Given the description of an element on the screen output the (x, y) to click on. 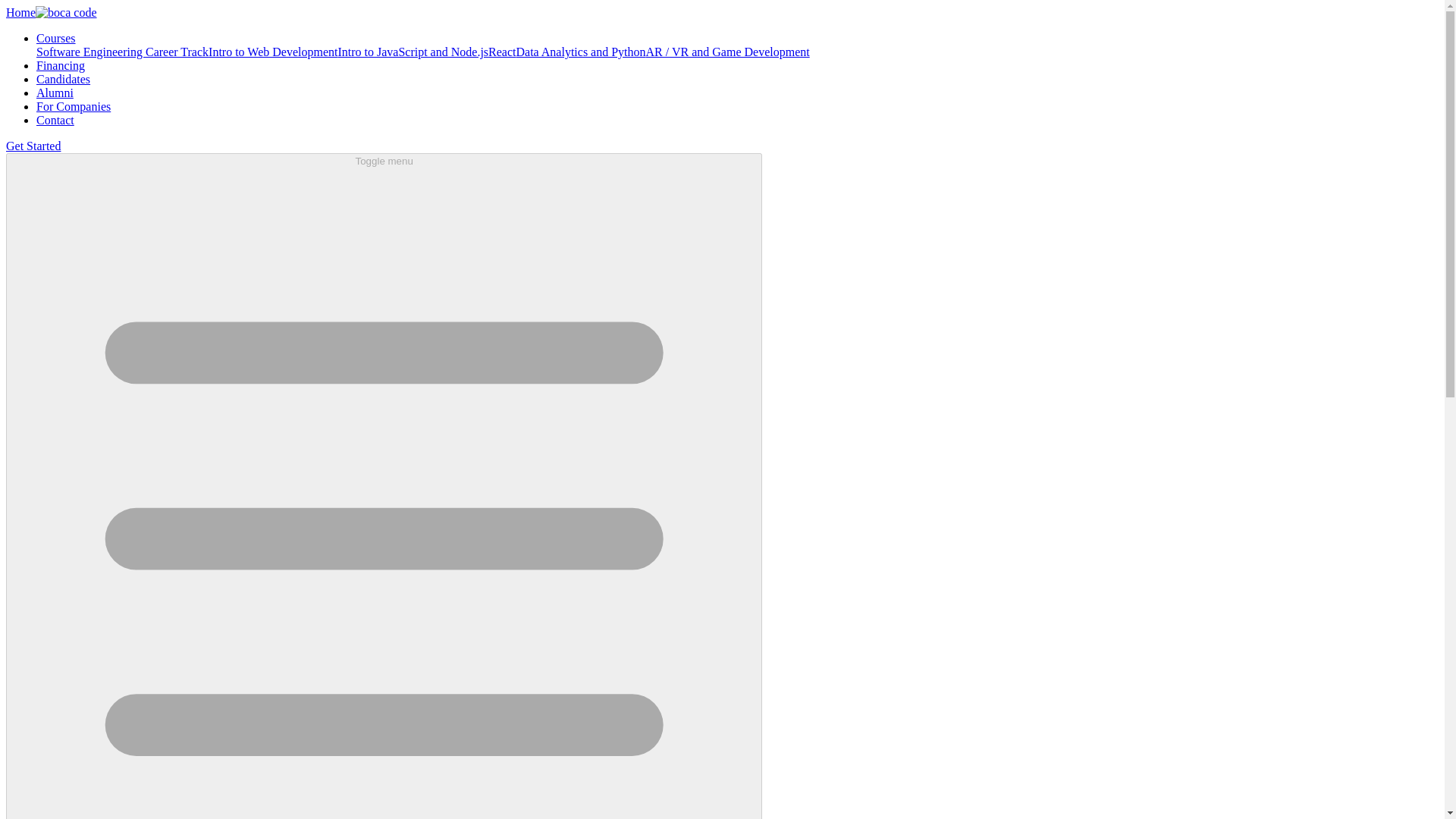
Candidates (63, 78)
Home (51, 11)
For Companies (73, 106)
Contact (55, 119)
Intro to Web Development (272, 51)
Financing (60, 65)
Courses (55, 38)
Get Started (33, 145)
Software Engineering Career Track (122, 51)
React (501, 51)
